Given the description of an element on the screen output the (x, y) to click on. 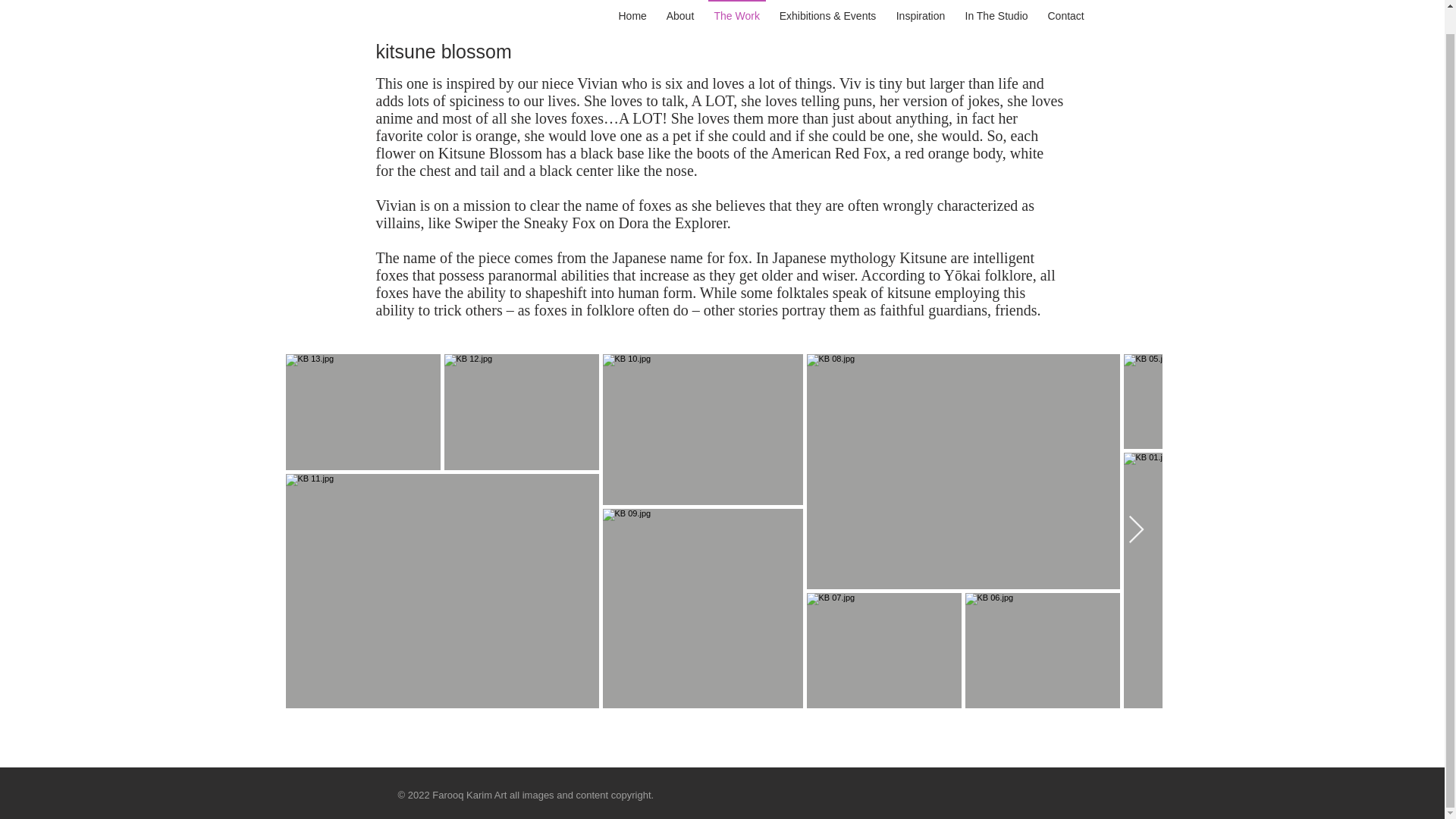
About (680, 9)
The Work (735, 9)
Home (632, 9)
